Given the description of an element on the screen output the (x, y) to click on. 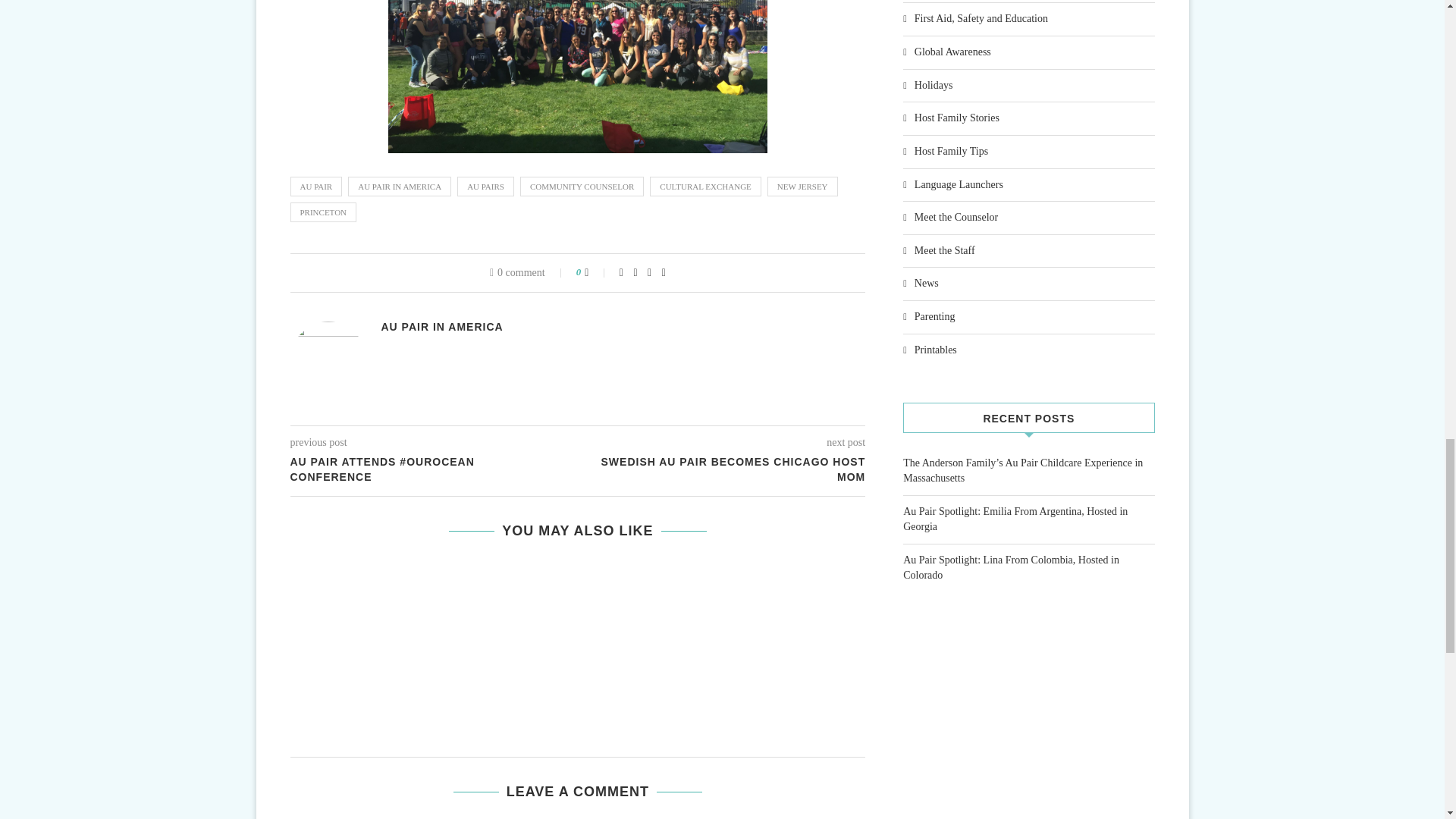
Like (596, 272)
AU PAIR (315, 186)
AU PAIR IN AMERICA (399, 186)
AU PAIRS (485, 186)
PRINCETON (322, 211)
CULTURAL EXCHANGE (705, 186)
Posts by Au Pair in America (441, 326)
NEW JERSEY (802, 186)
COMMUNITY COUNSELOR (581, 186)
